Given the description of an element on the screen output the (x, y) to click on. 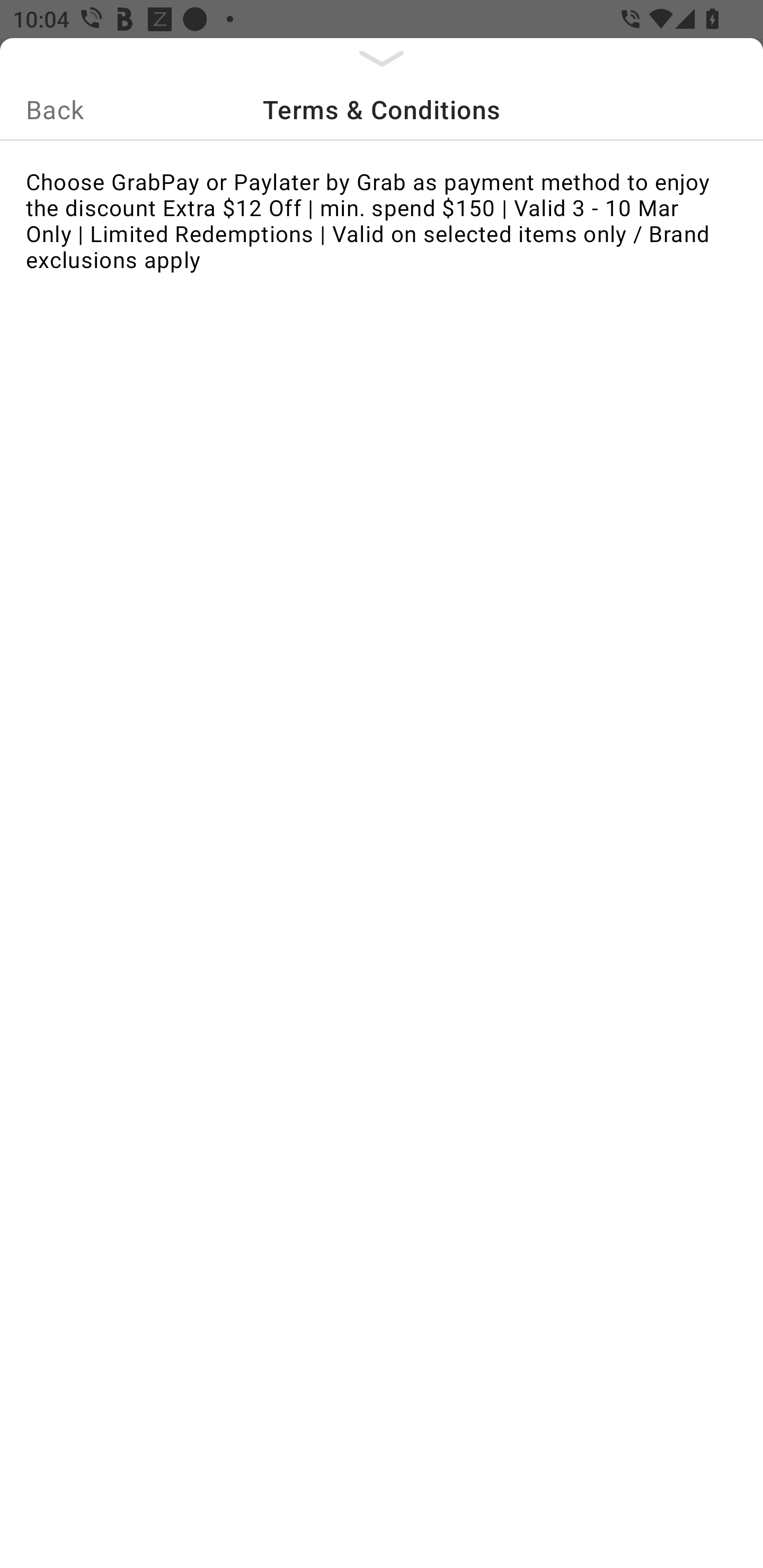
Back (54, 109)
